Given the description of an element on the screen output the (x, y) to click on. 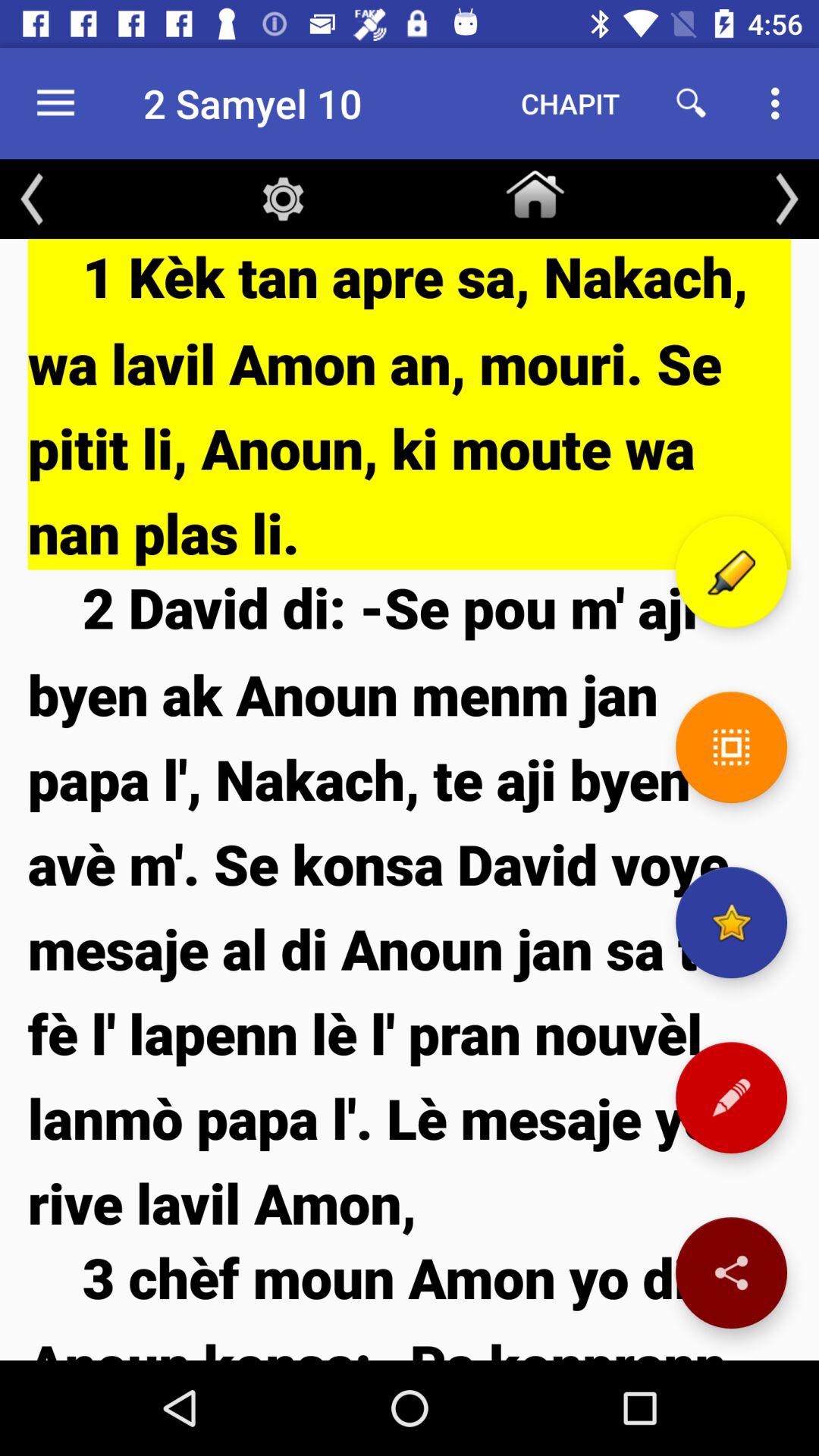
click the item to the left of 2 samyel 10 icon (55, 103)
